Given the description of an element on the screen output the (x, y) to click on. 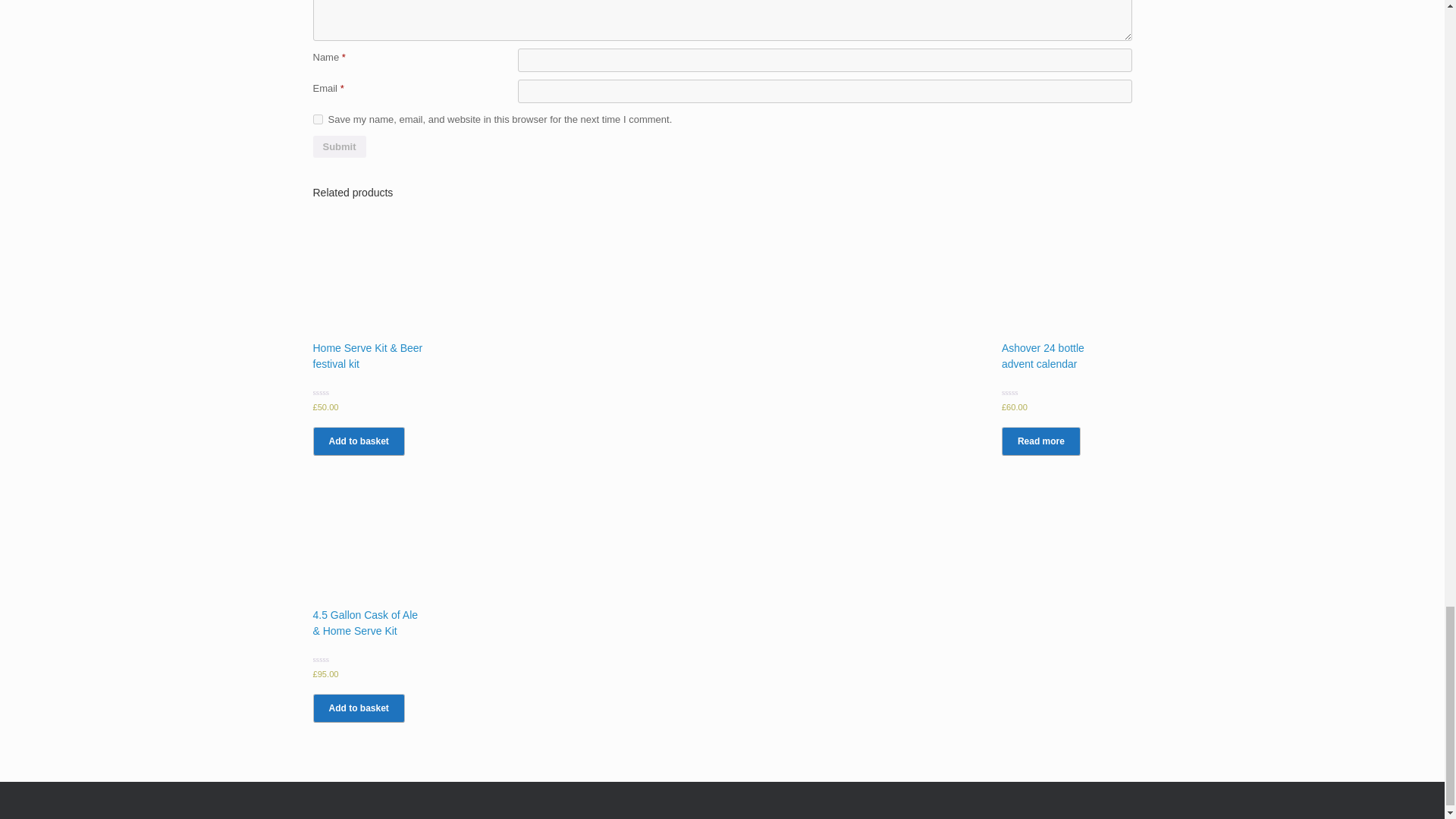
Read more (1040, 440)
yes (317, 119)
Add to basket (358, 440)
Add to basket (358, 707)
Submit (339, 146)
Submit (339, 146)
